Given the description of an element on the screen output the (x, y) to click on. 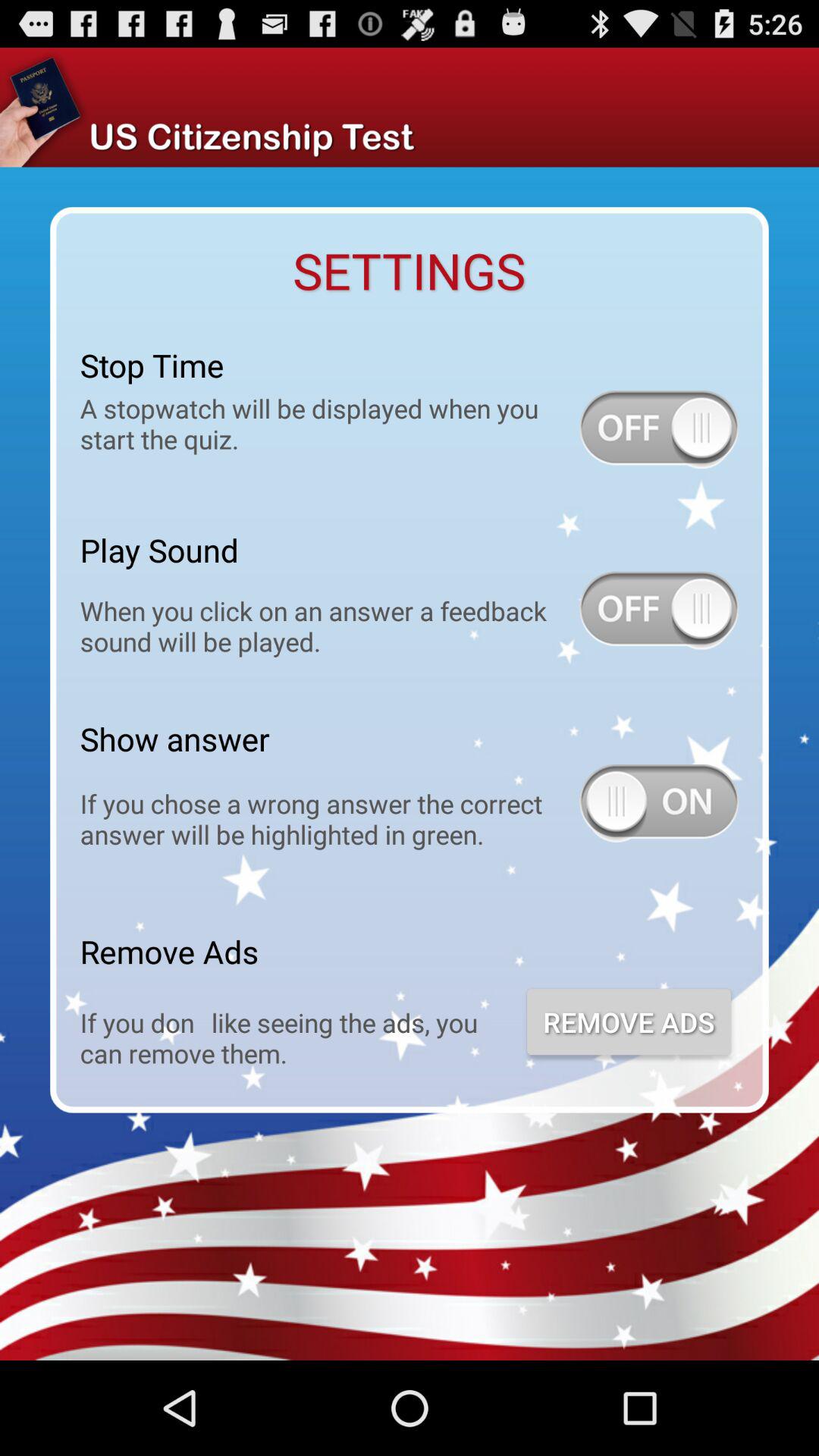
select third switch button in settings (658, 803)
go to first switch button under settings (658, 429)
